Given the description of an element on the screen output the (x, y) to click on. 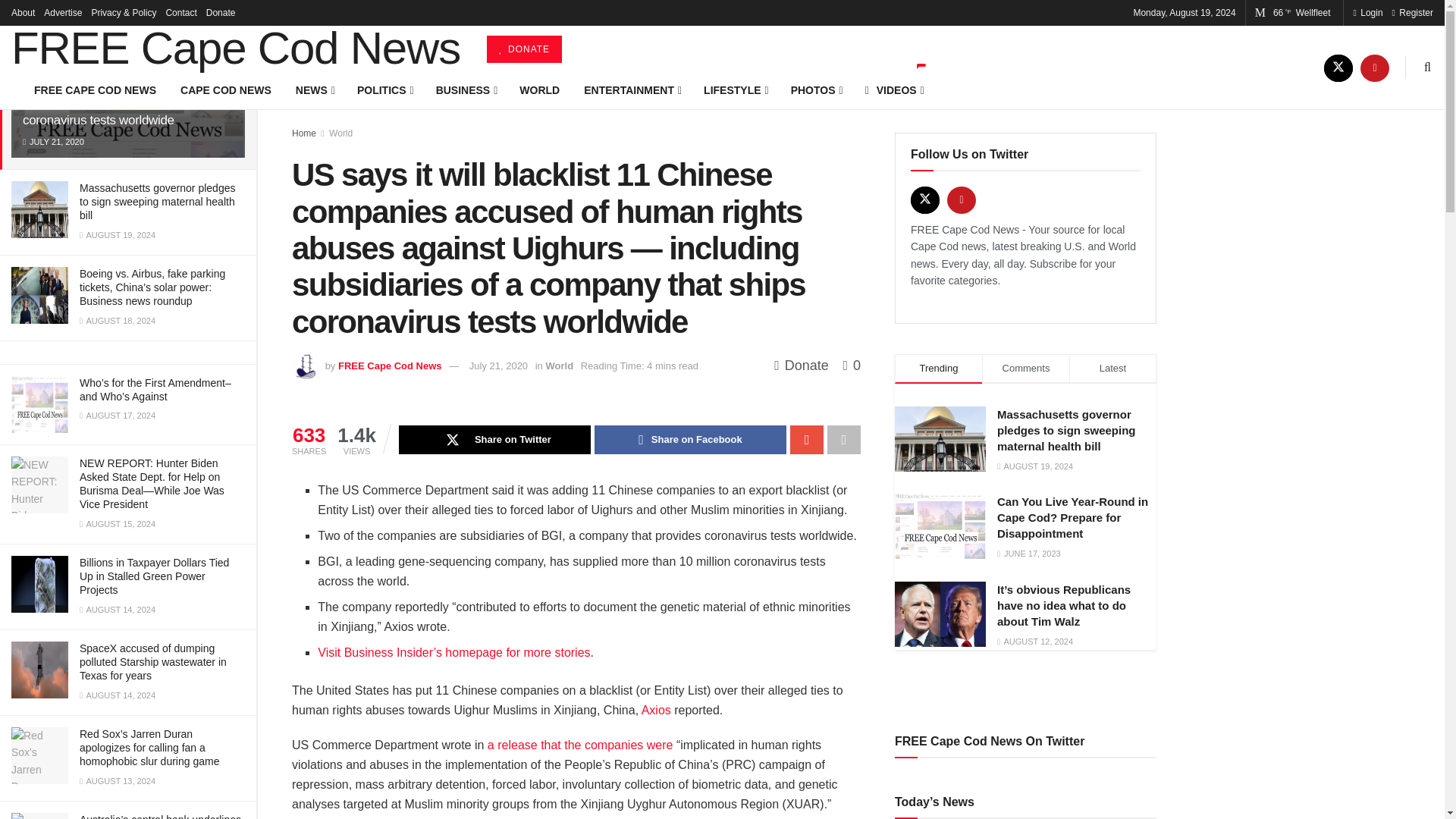
Donate (220, 12)
FREE Cape Cod News (235, 48)
Login (1366, 12)
About (22, 12)
Advertise (62, 12)
Register (1411, 12)
Contact (180, 12)
Filter (227, 13)
